Given the description of an element on the screen output the (x, y) to click on. 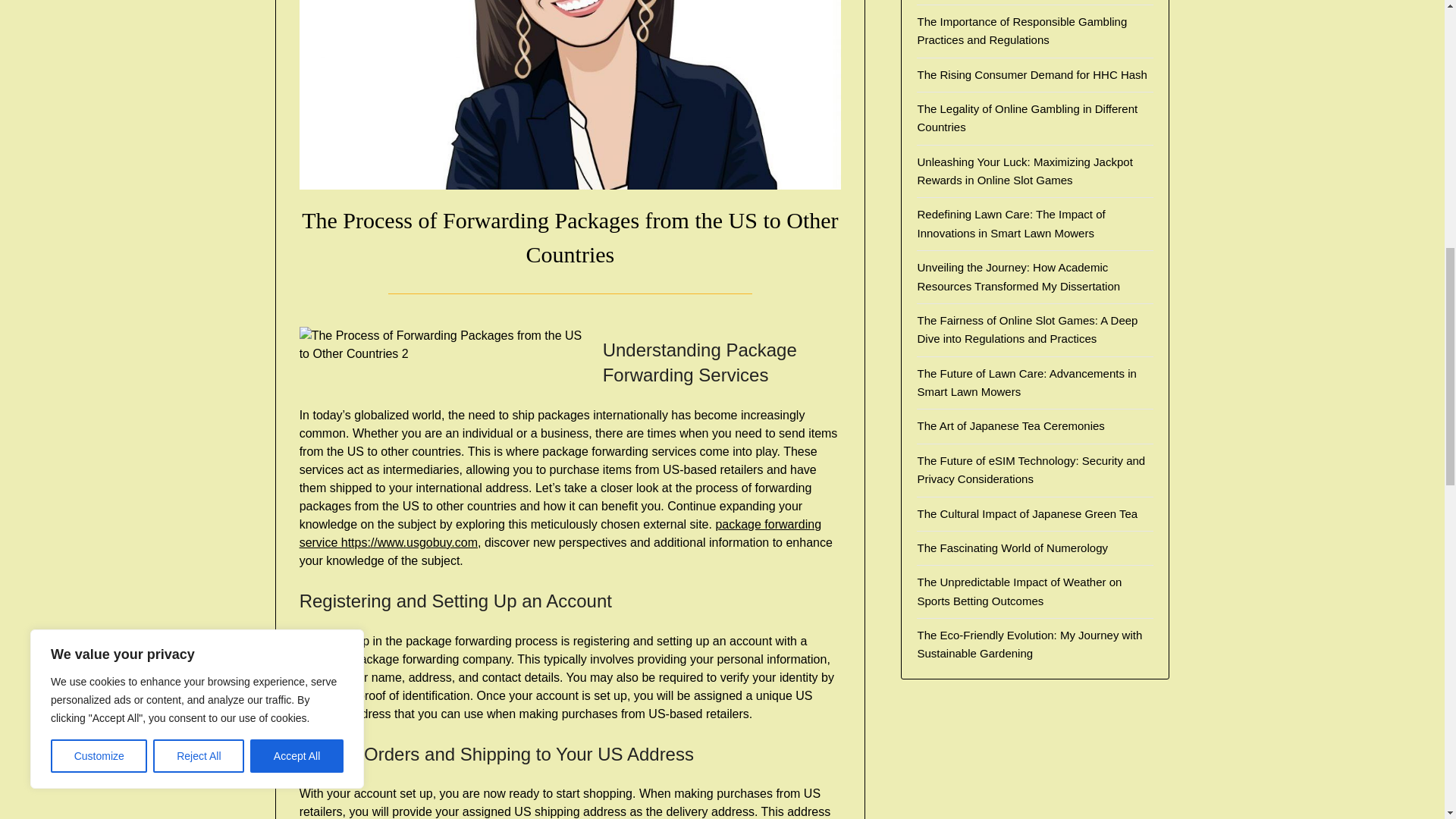
The Rising Consumer Demand for HHC Hash (1032, 74)
The Future of Lawn Care: Advancements in Smart Lawn Mowers (1026, 382)
The Legality of Online Gambling in Different Countries (1027, 117)
